Given the description of an element on the screen output the (x, y) to click on. 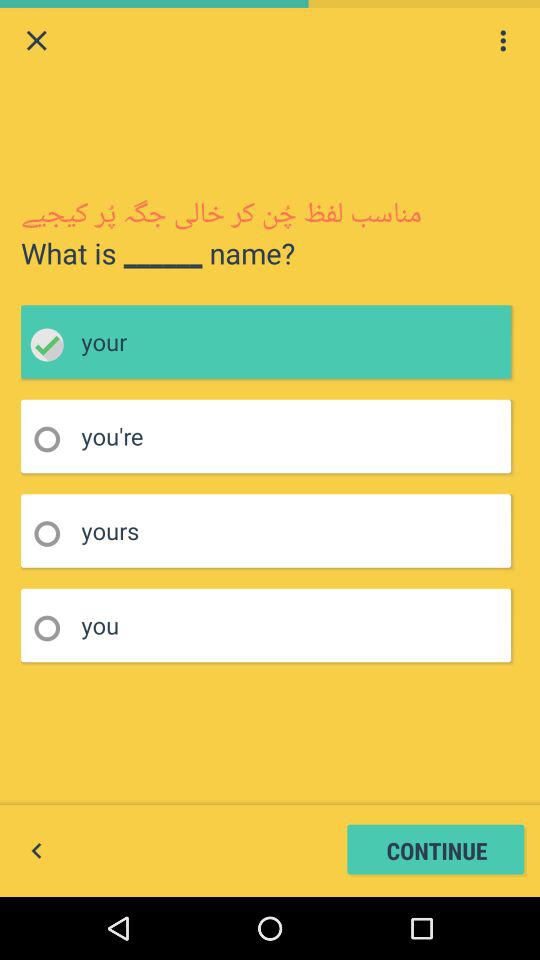
click the option (53, 533)
